Given the description of an element on the screen output the (x, y) to click on. 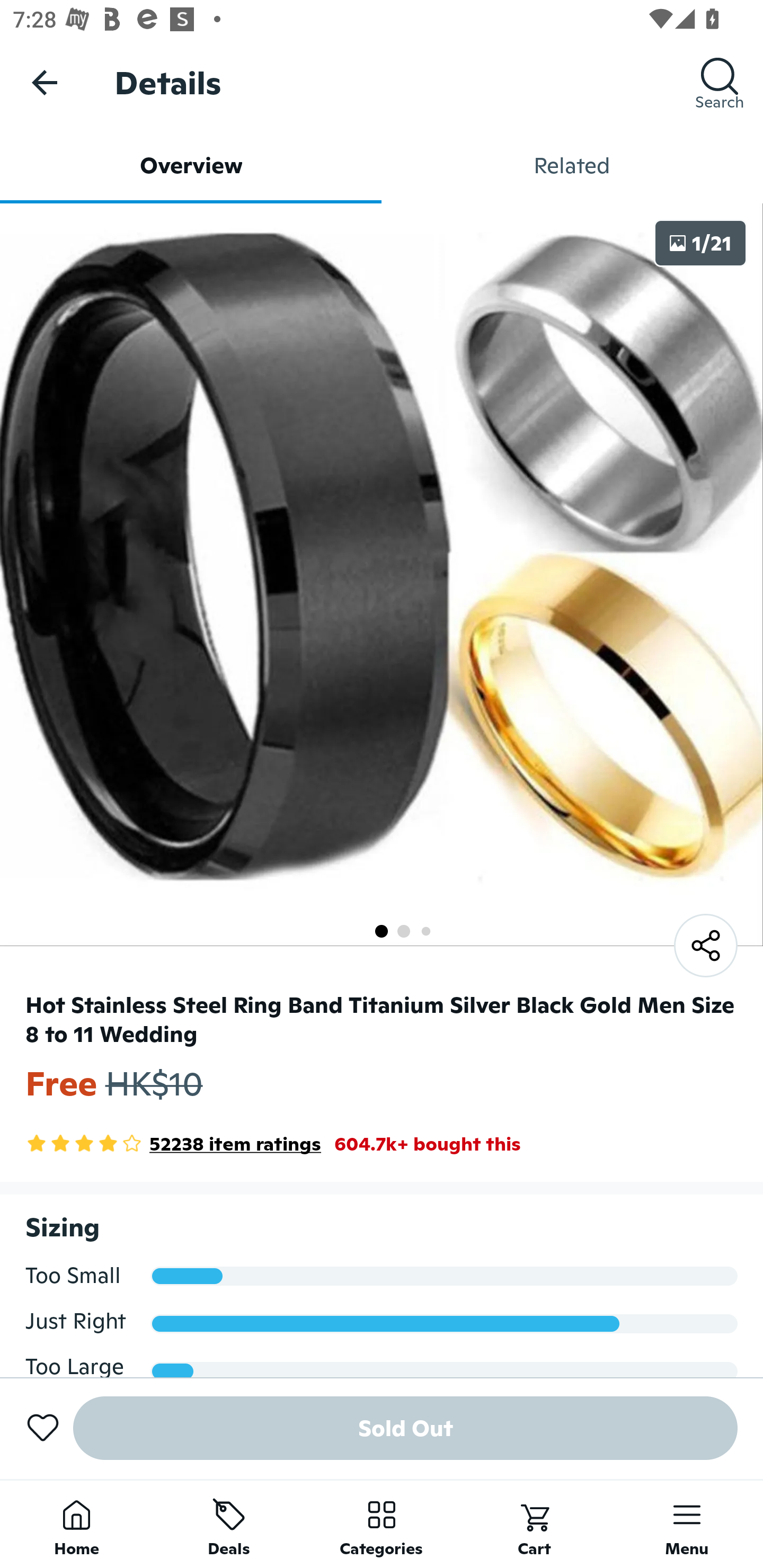
Navigate up (44, 82)
Search (719, 82)
Related (572, 165)
1/21 (700, 242)
4.2 Star Rating 52238 item ratings (173, 1143)
Sold Out (405, 1428)
Home (76, 1523)
Deals (228, 1523)
Categories (381, 1523)
Cart (533, 1523)
Menu (686, 1523)
